Given the description of an element on the screen output the (x, y) to click on. 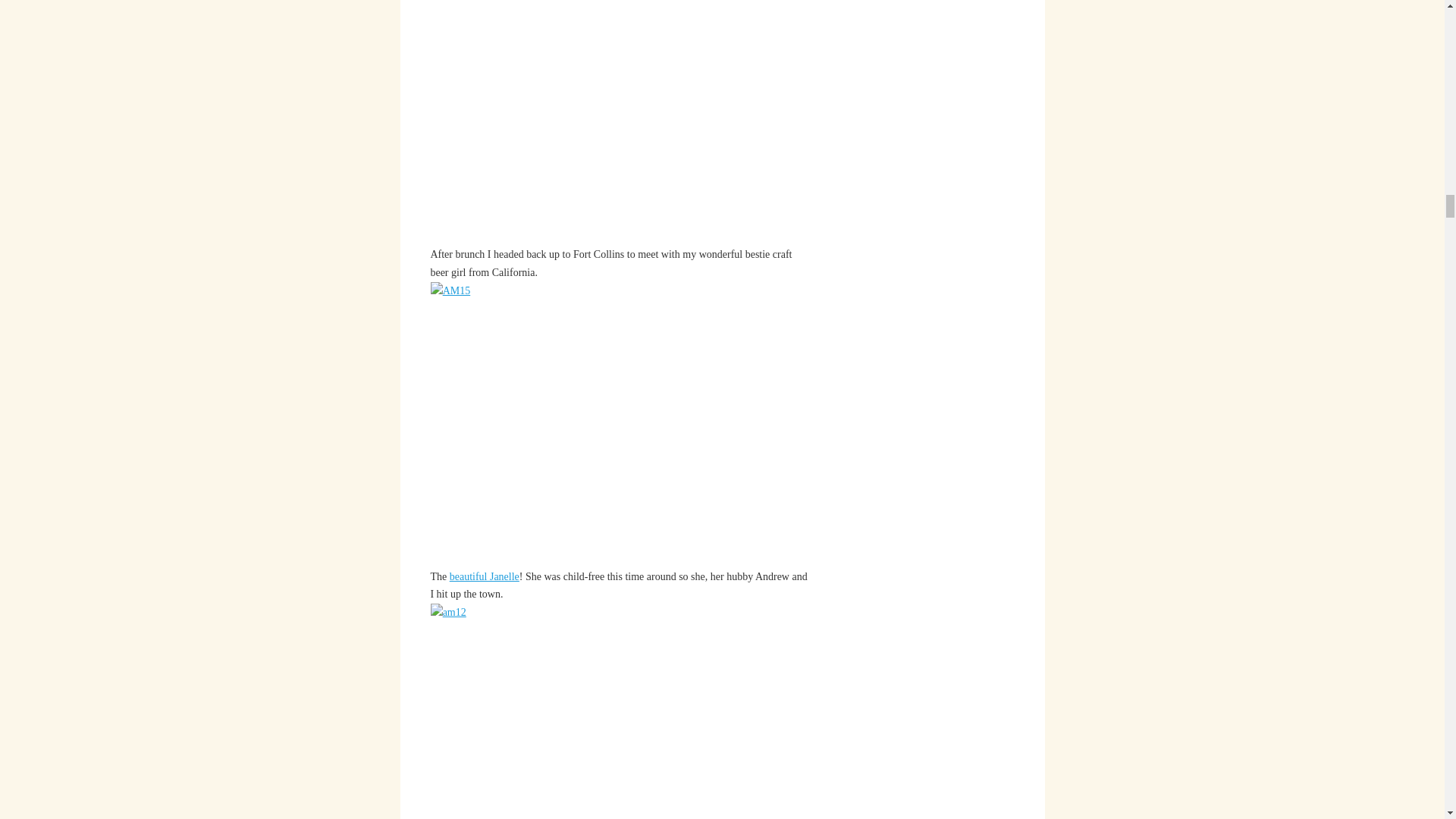
Enegren Brewing Company (484, 576)
